Given the description of an element on the screen output the (x, y) to click on. 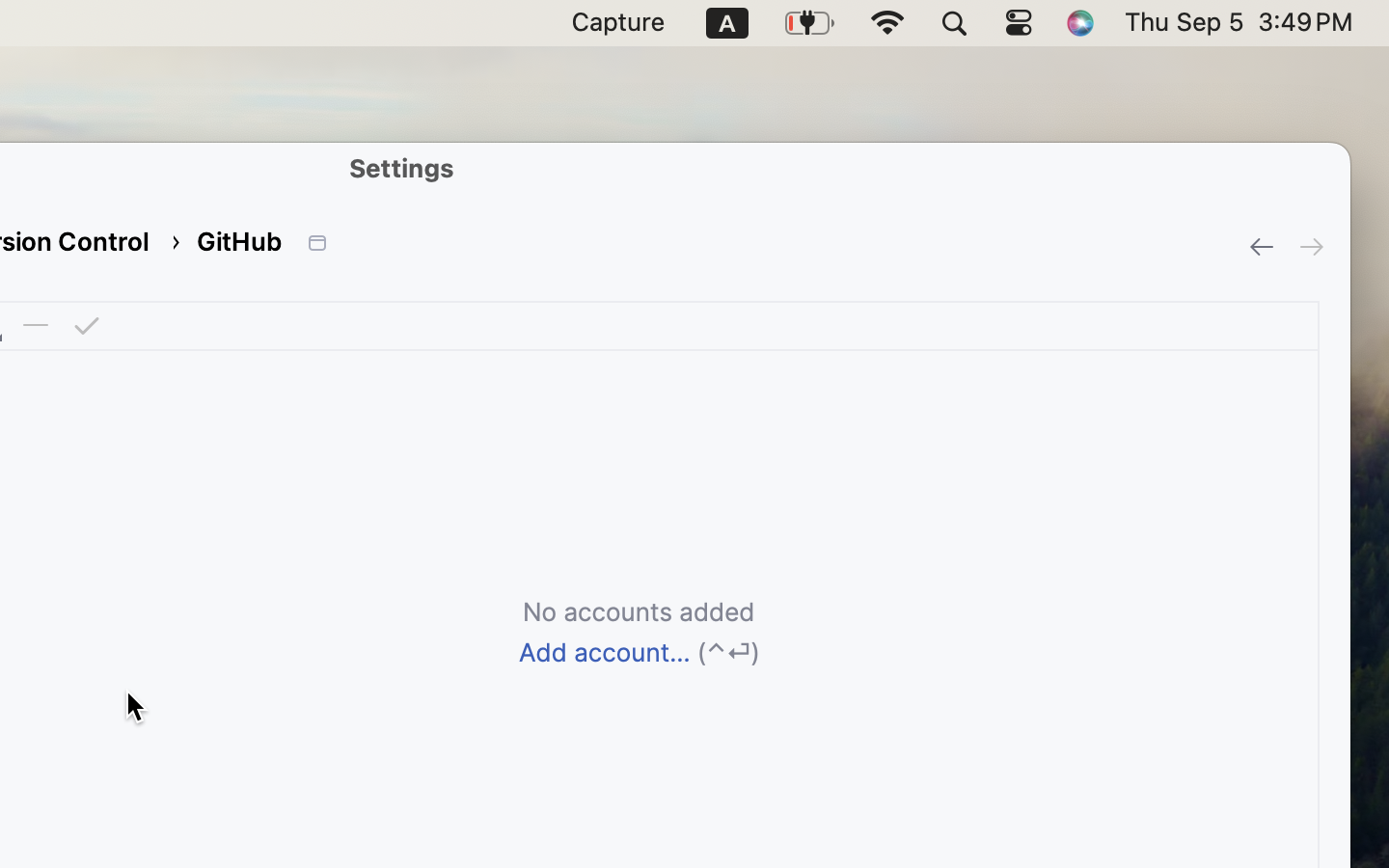
Settings Element type: AXStaticText (402, 167)
